Given the description of an element on the screen output the (x, y) to click on. 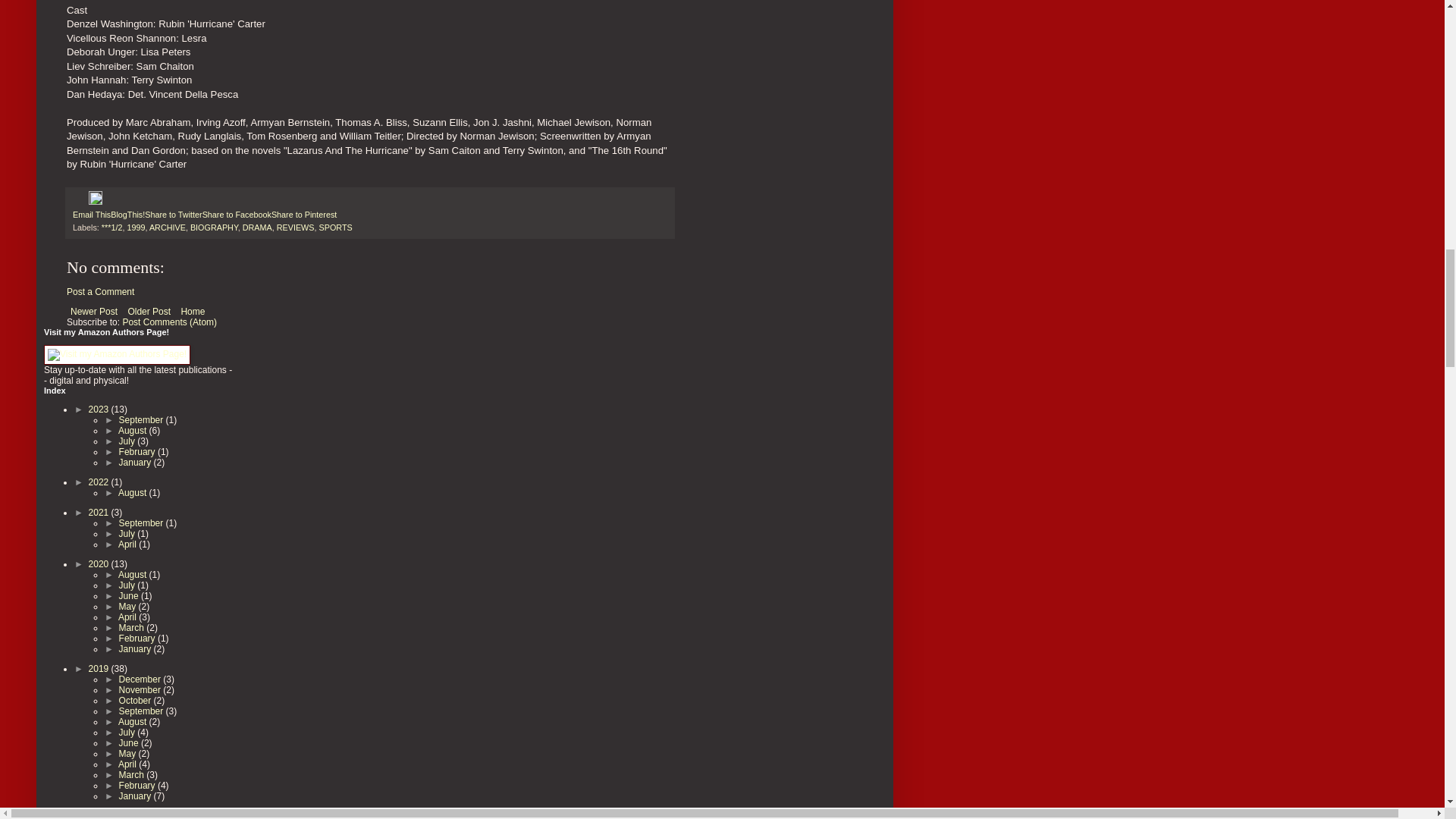
REVIEWS (295, 226)
BIOGRAPHY (214, 226)
Newer Post (93, 311)
Newer Post (93, 311)
September (142, 419)
August (133, 430)
1999 (135, 226)
Email This (91, 214)
Edit Post (94, 201)
ARCHIVE (167, 226)
Share to Facebook (236, 214)
DRAMA (257, 226)
Older Post (148, 311)
Share to Twitter (173, 214)
BlogThis! (127, 214)
